Given the description of an element on the screen output the (x, y) to click on. 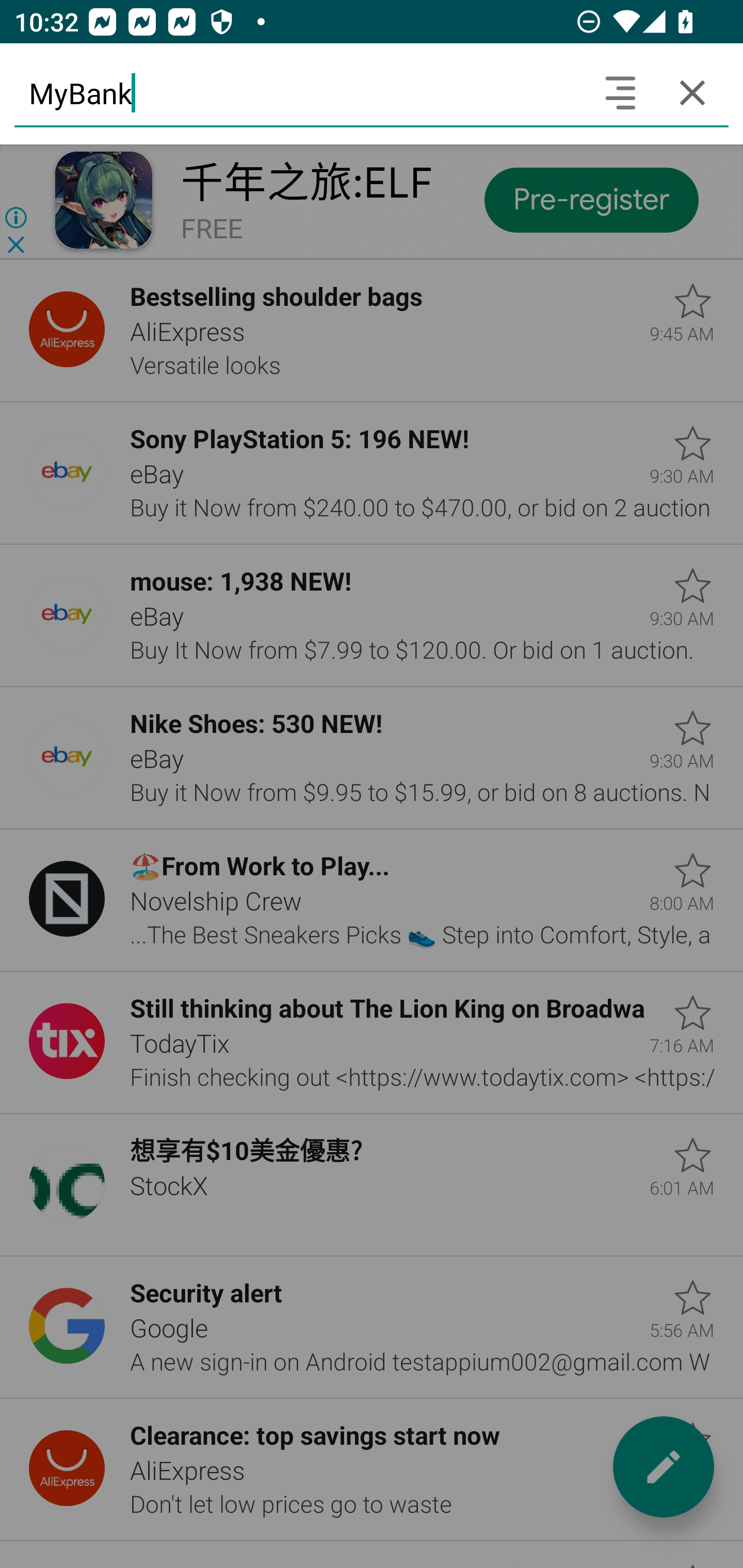
MyBank (298, 92)
Search headers and text (619, 92)
Cancel (692, 92)
